Given the description of an element on the screen output the (x, y) to click on. 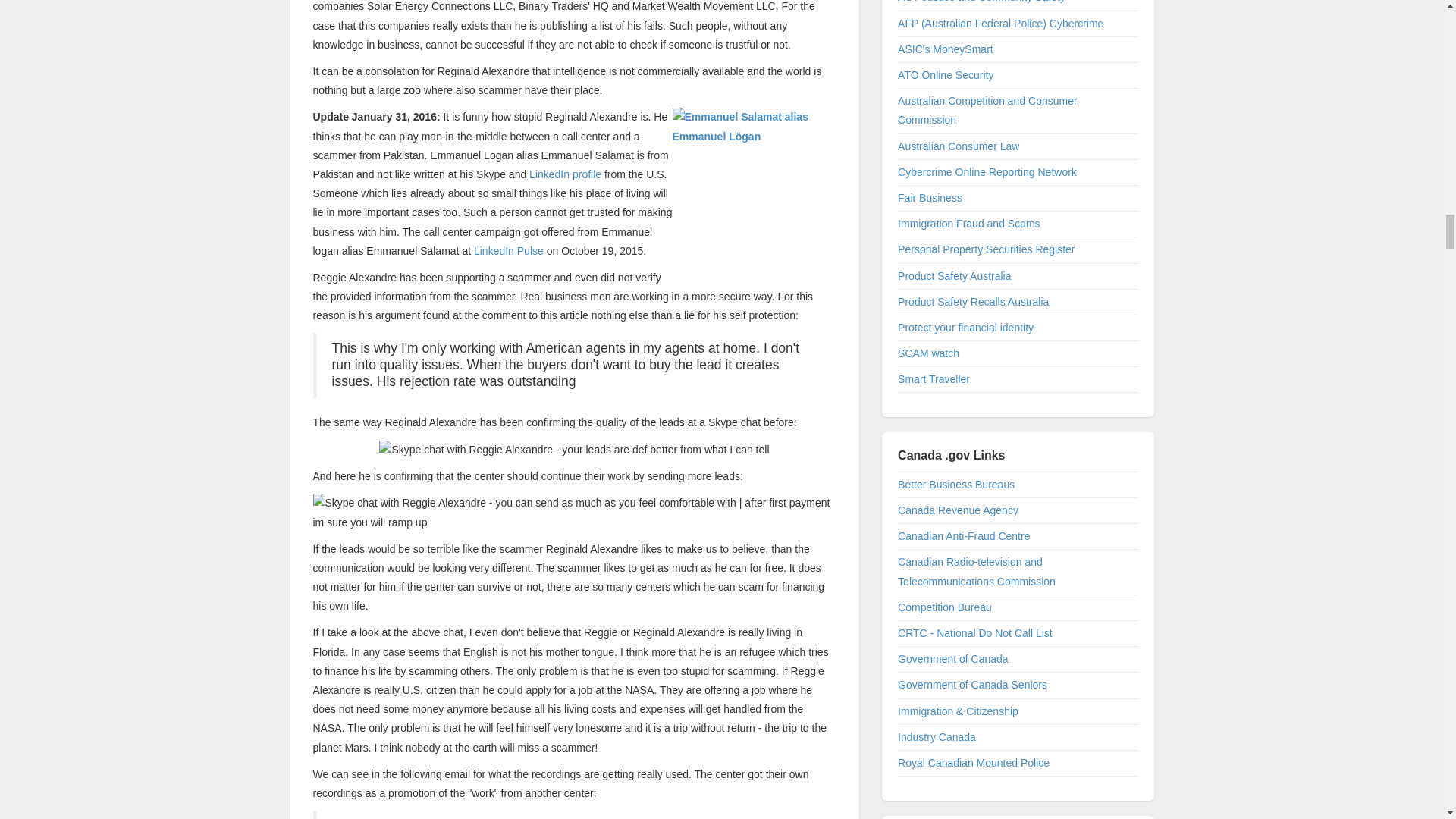
LinkedIn profile (565, 174)
LinkedIn profile of Emmanuel Logan alias Emmanuel Salamat (565, 174)
LinkedIn Pulse (508, 250)
Solar In-House Appointment Setting Services (508, 250)
